Given the description of an element on the screen output the (x, y) to click on. 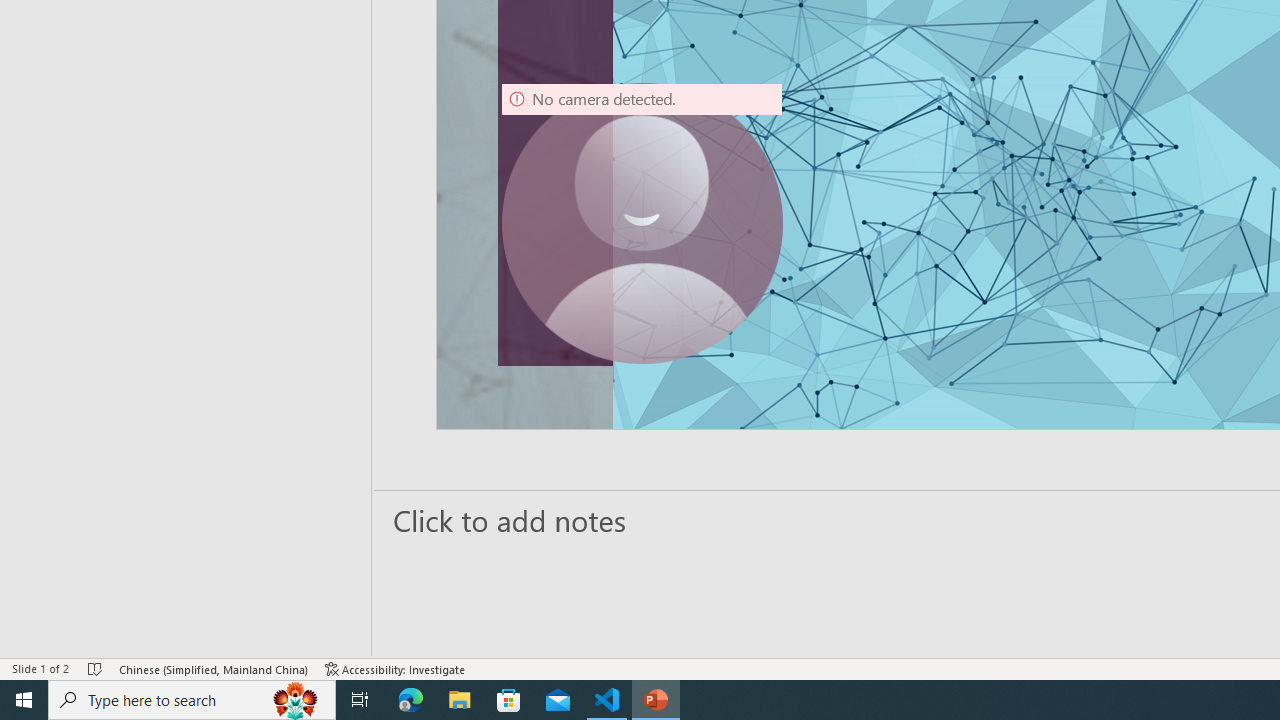
Camera 9, No camera detected. (641, 223)
